Given the description of an element on the screen output the (x, y) to click on. 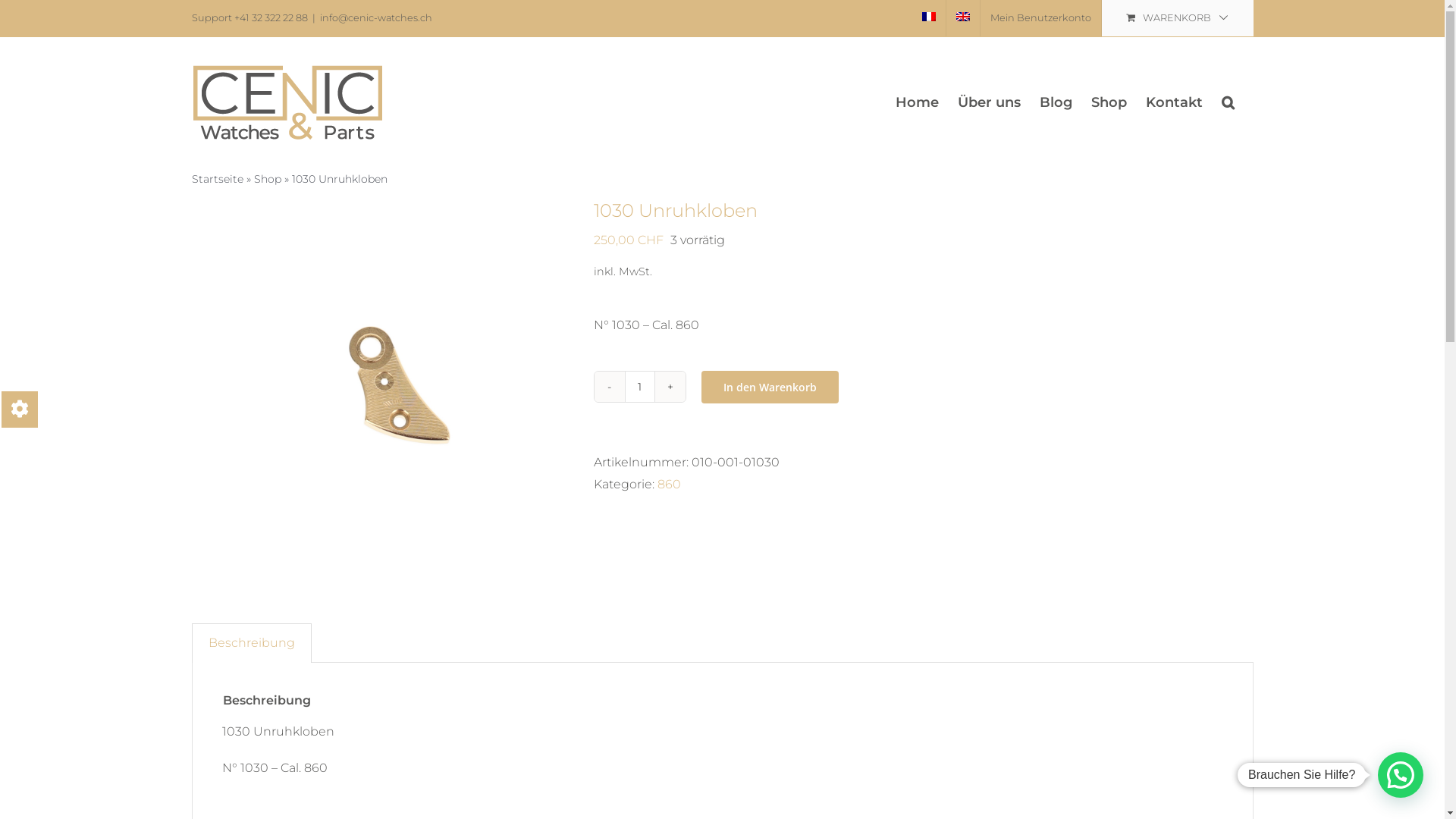
860 Element type: text (668, 483)
Beschreibung Element type: text (251, 643)
Mein Benutzerkonto Element type: text (1039, 18)
Shop Element type: text (266, 178)
Shop Element type: text (1108, 102)
Suche Element type: hover (1226, 102)
Home Element type: text (916, 102)
WARENKORB Element type: text (1176, 18)
Anmelden Element type: text (1077, 179)
Kontakt Element type: text (1173, 102)
In den Warenkorb Element type: text (768, 386)
Blog Element type: text (1054, 102)
Startseite Element type: text (216, 178)
010-001-01030 Element type: hover (380, 387)
info@cenic-watches.ch Element type: text (376, 17)
